Given the description of an element on the screen output the (x, y) to click on. 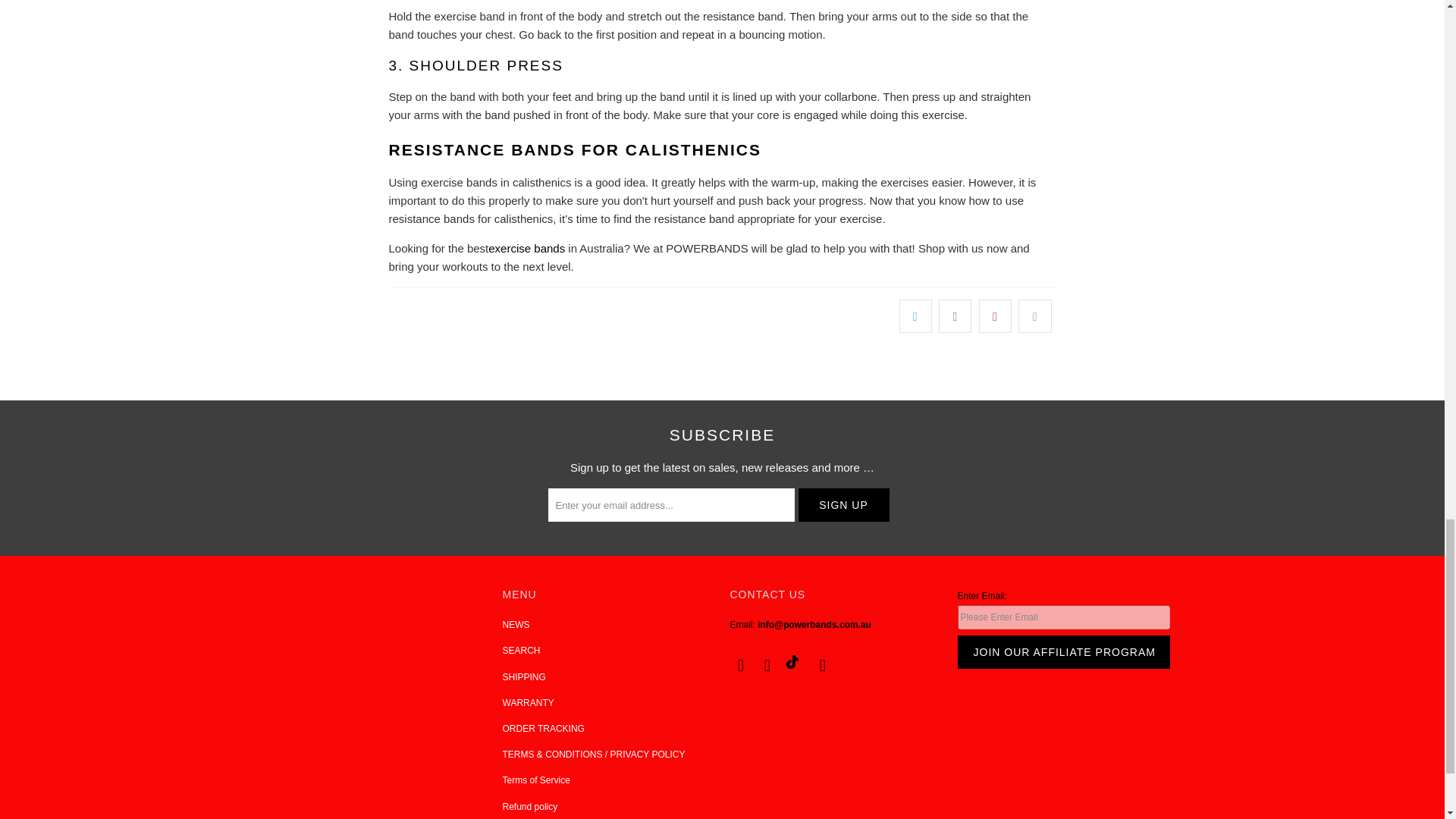
Email this to a friend (1034, 315)
Share this on Pinterest (994, 315)
Share this on Facebook (955, 315)
Share this on Twitter (915, 315)
Sign Up (842, 504)
Join Our Affiliate Program (1062, 652)
